Given the description of an element on the screen output the (x, y) to click on. 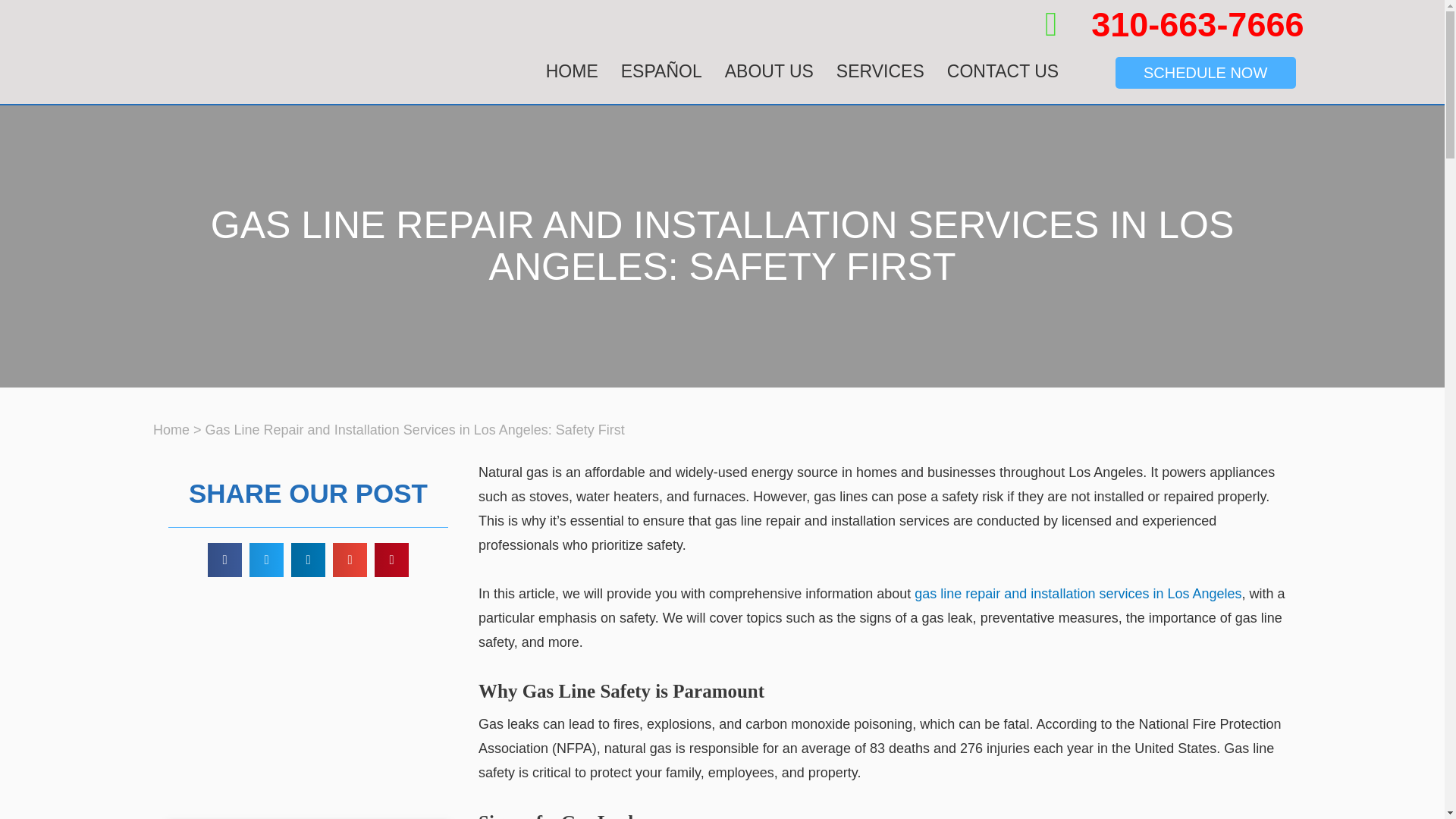
SCHEDULE NOW (1205, 72)
CONTACT US (1002, 71)
310-663-7666 (1174, 24)
HOME (572, 71)
ABOUT US (769, 71)
SERVICES (879, 71)
